Given the description of an element on the screen output the (x, y) to click on. 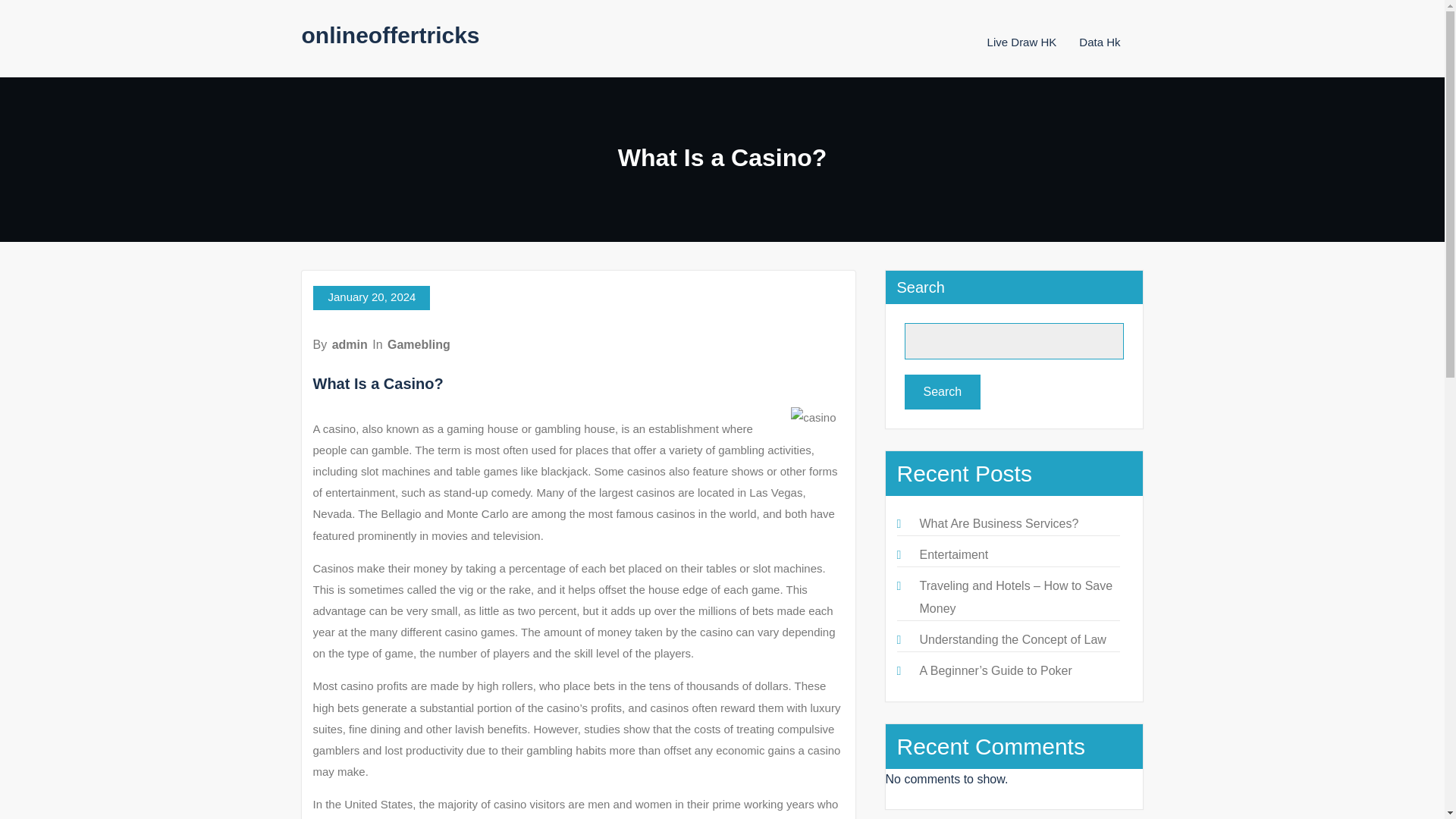
What Are Business Services? (998, 522)
onlineoffertricks (390, 34)
Understanding the Concept of Law (1011, 639)
Entertaiment (953, 554)
admin (349, 344)
Search (941, 391)
Gamebling (418, 344)
Live Draw HK (1022, 41)
Data Hk (1098, 41)
January 20, 2024 (371, 297)
